Given the description of an element on the screen output the (x, y) to click on. 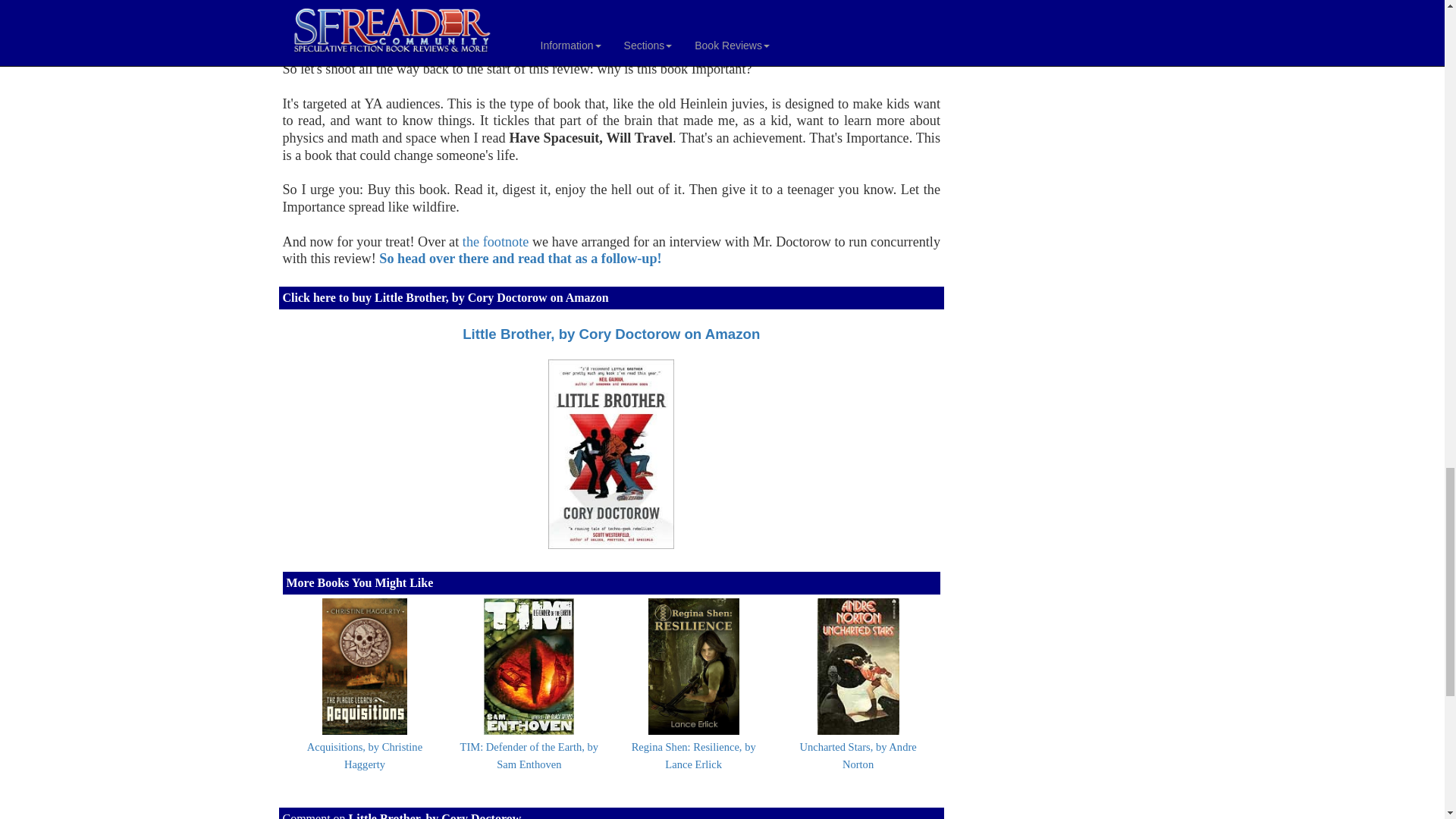
So head over there and read that as a follow-up! (519, 258)
Little Brother, by Cory Doctorow on Amazon (611, 333)
the footnote (495, 240)
